Given the description of an element on the screen output the (x, y) to click on. 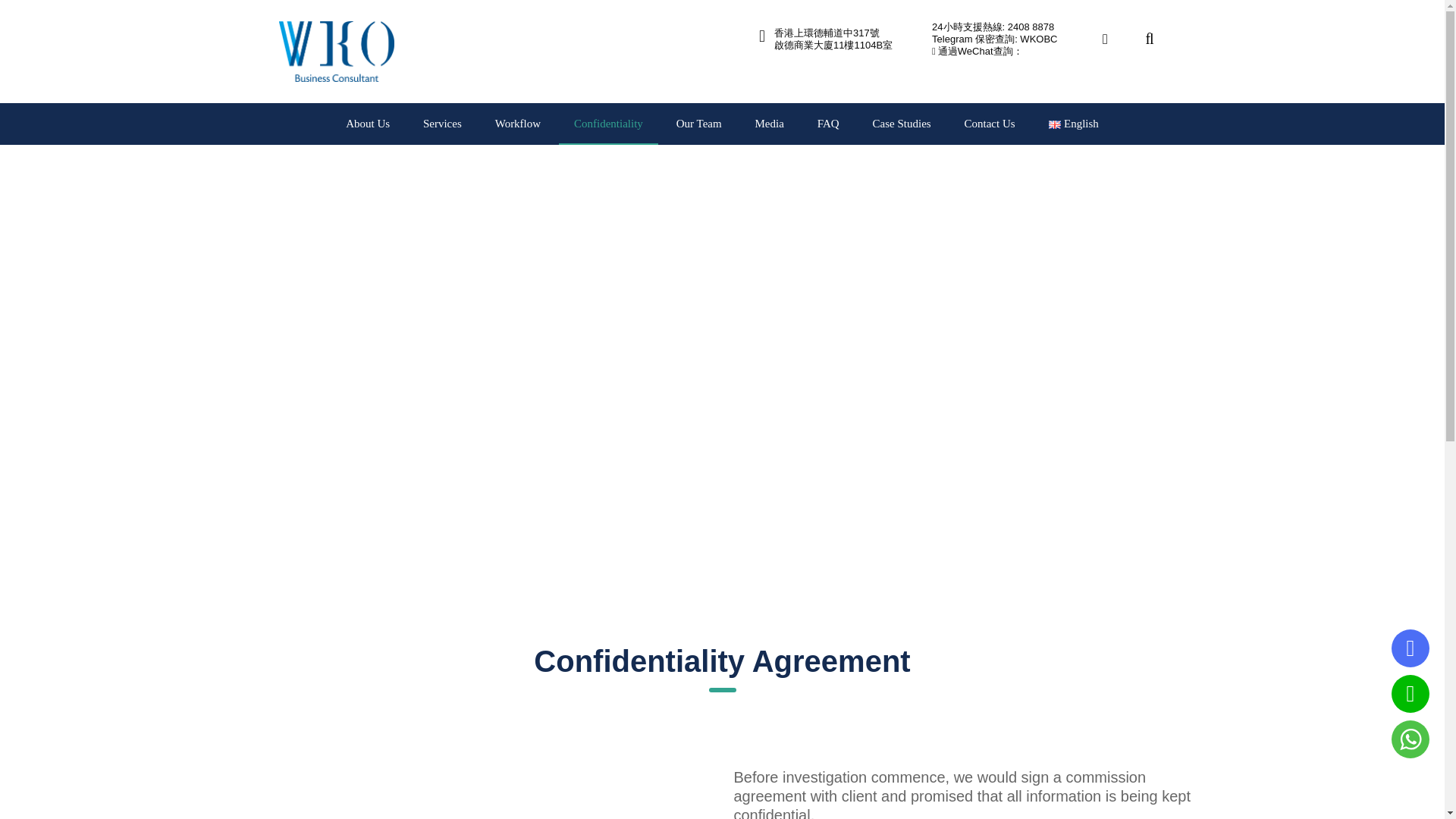
Services (442, 123)
Confidentiality (608, 123)
FAQ (828, 123)
About Us (367, 123)
Case Studies (901, 123)
Workflow (518, 123)
Media (769, 123)
Contact Us (989, 123)
facebook (1104, 39)
English (1072, 123)
Our Team (698, 123)
